Given the description of an element on the screen output the (x, y) to click on. 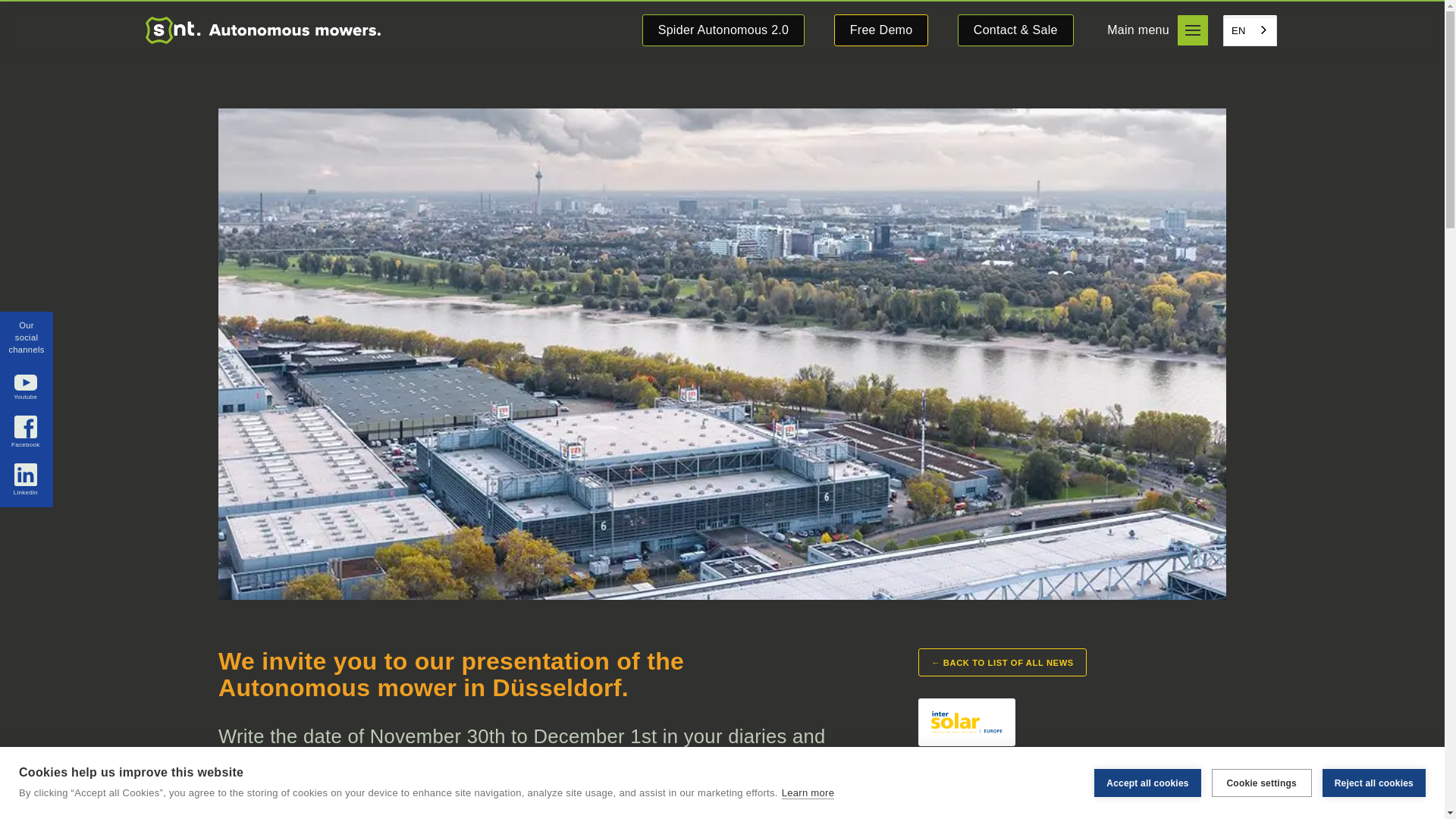
EN (1250, 31)
Spider Autonomous 2.0 (723, 29)
Free Demo (881, 29)
